Given the description of an element on the screen output the (x, y) to click on. 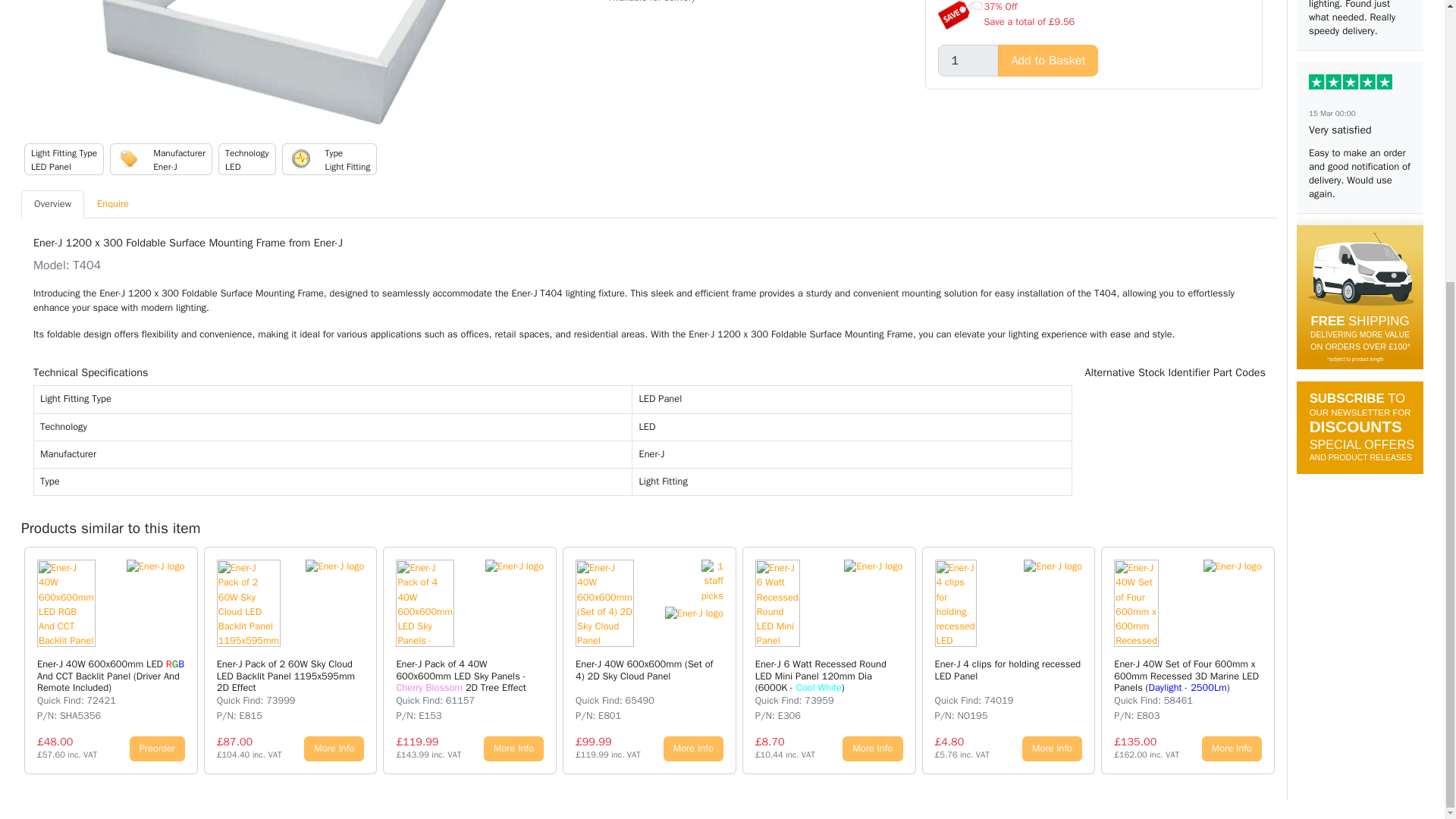
Add to Basket (1047, 60)
1 (967, 60)
Add to Basket (1047, 60)
Overview (52, 204)
Ener-J (155, 566)
Enquire (112, 204)
Ener-J 1200 x 300 Foldable Surface Mounting Frame (309, 63)
